Given the description of an element on the screen output the (x, y) to click on. 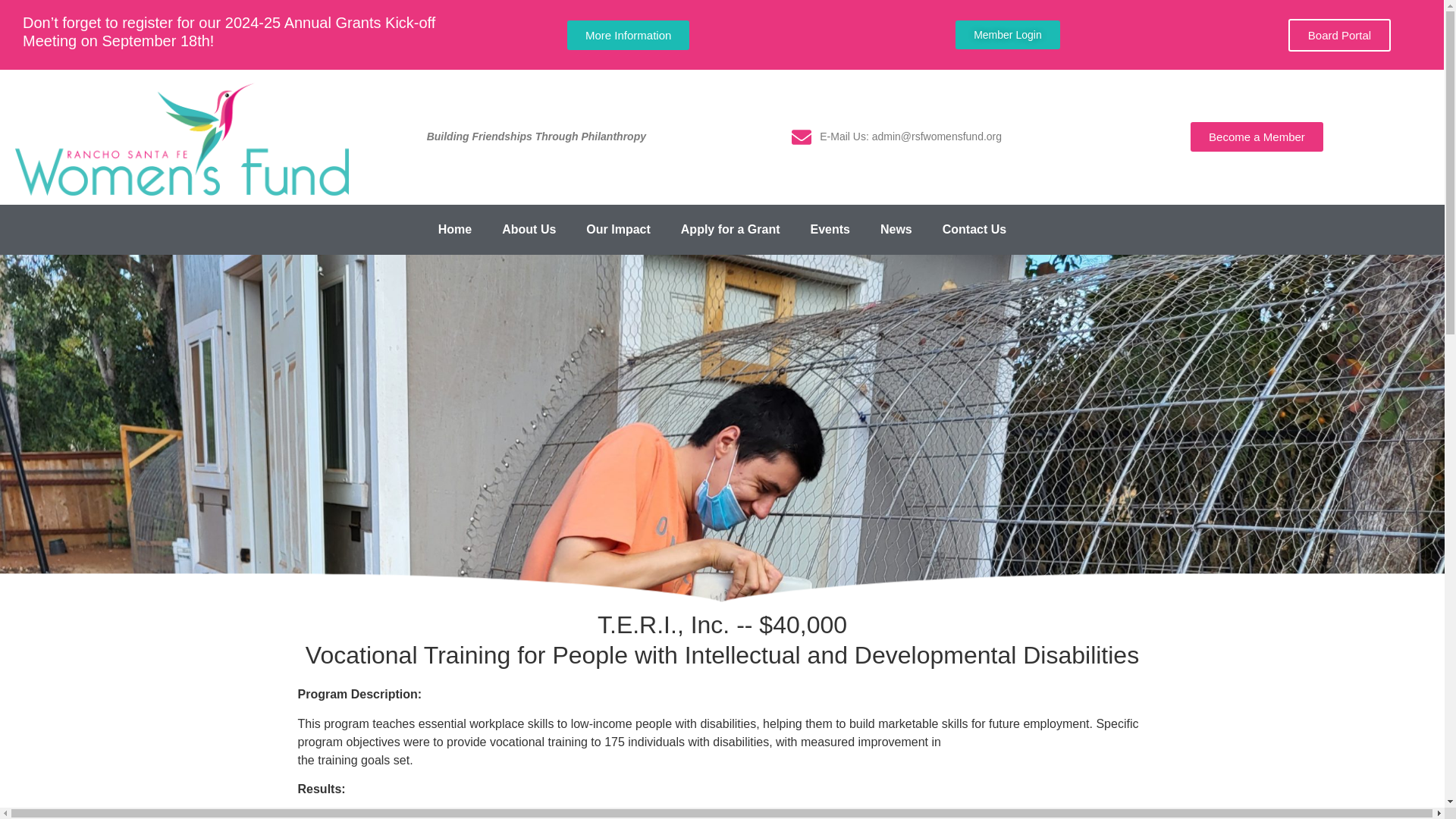
Member Login (1007, 34)
About Us (528, 229)
Apply for a Grant (729, 229)
Board Portal (1339, 34)
More Information (627, 34)
Contact Us (974, 229)
Home (454, 229)
Our Impact (617, 229)
News (895, 229)
Events (829, 229)
